Given the description of an element on the screen output the (x, y) to click on. 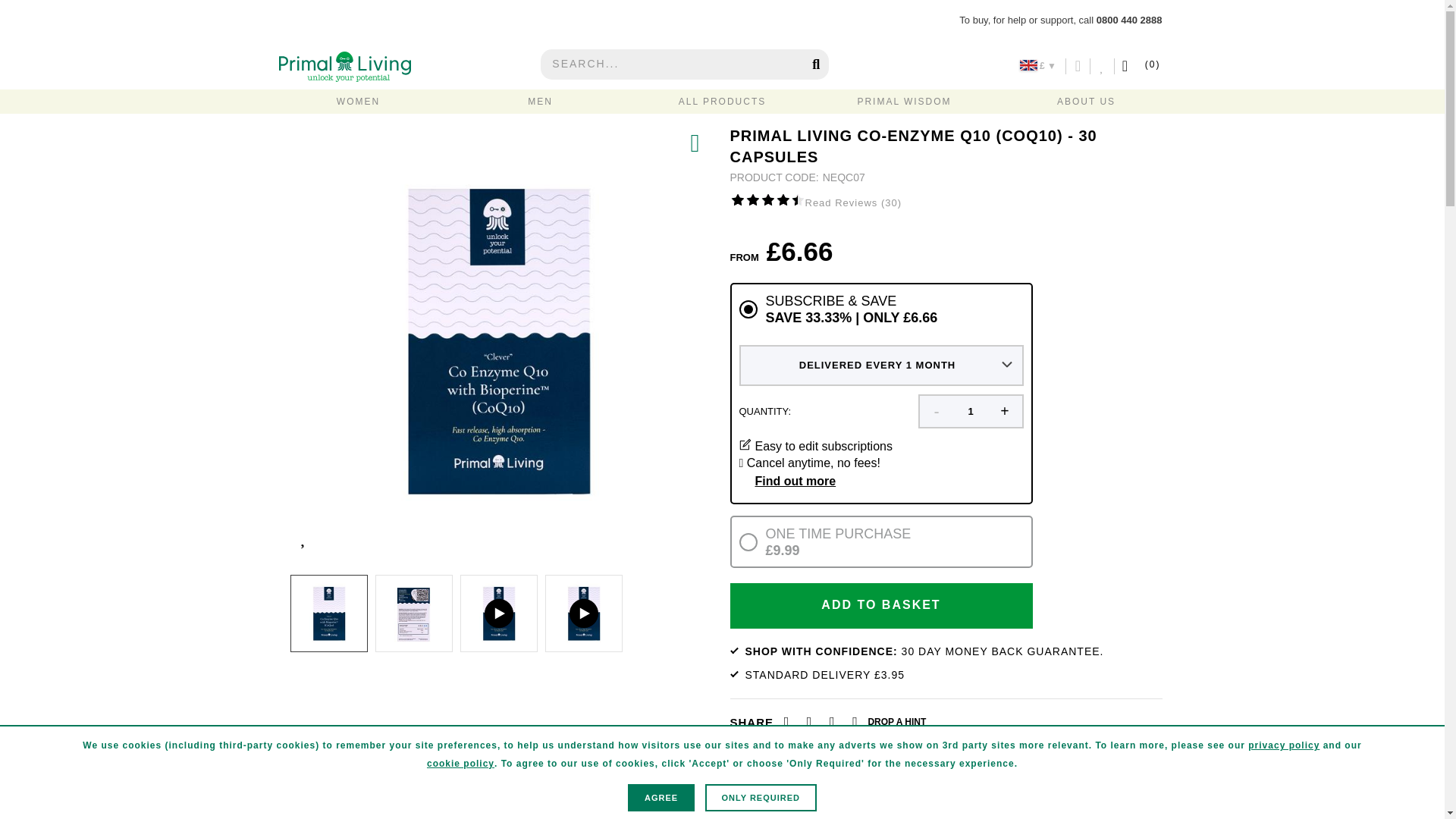
Decrease quantity (935, 410)
cookie policy (460, 763)
AGREE (660, 797)
privacy policy (1283, 745)
Increase quantity (1004, 410)
ONLY REQUIRED (760, 797)
1 (970, 410)
Add to Wishlist (304, 535)
